Given the description of an element on the screen output the (x, y) to click on. 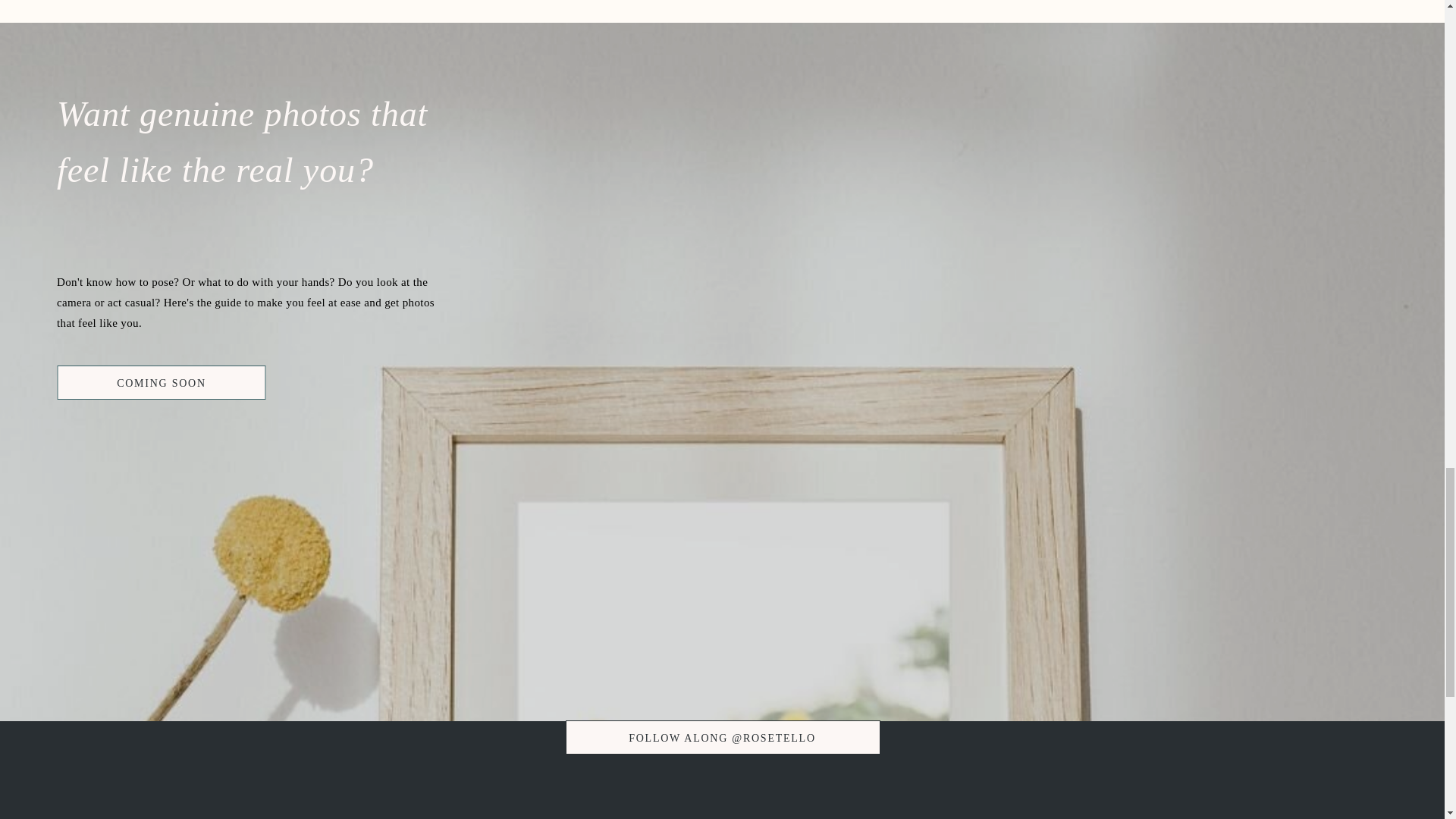
COMING SOON (161, 382)
